Given the description of an element on the screen output the (x, y) to click on. 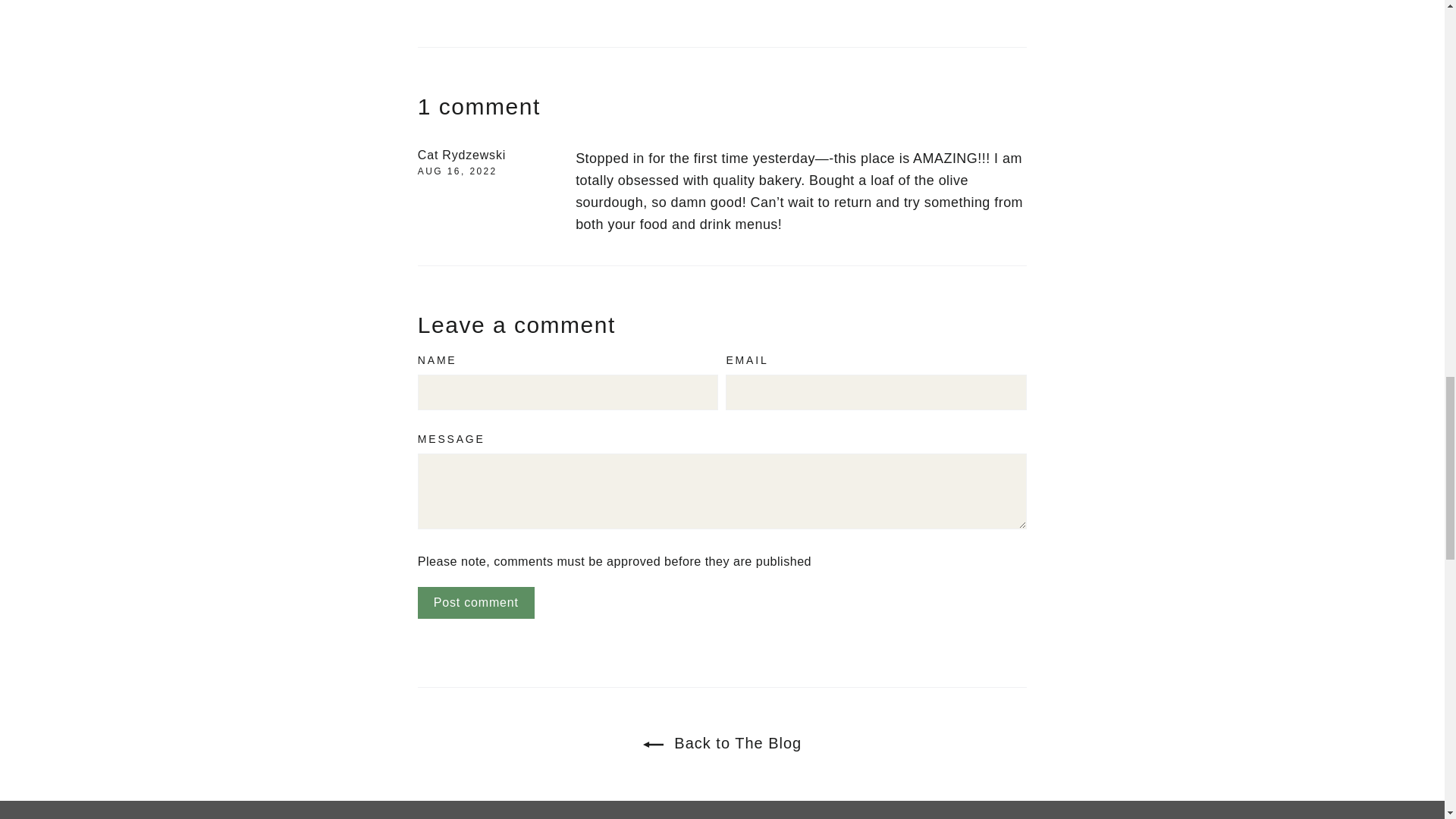
Pin on Pinterest (610, 0)
Tweet on Twitter (532, 0)
Post comment (475, 603)
Share on Facebook (450, 0)
